Given the description of an element on the screen output the (x, y) to click on. 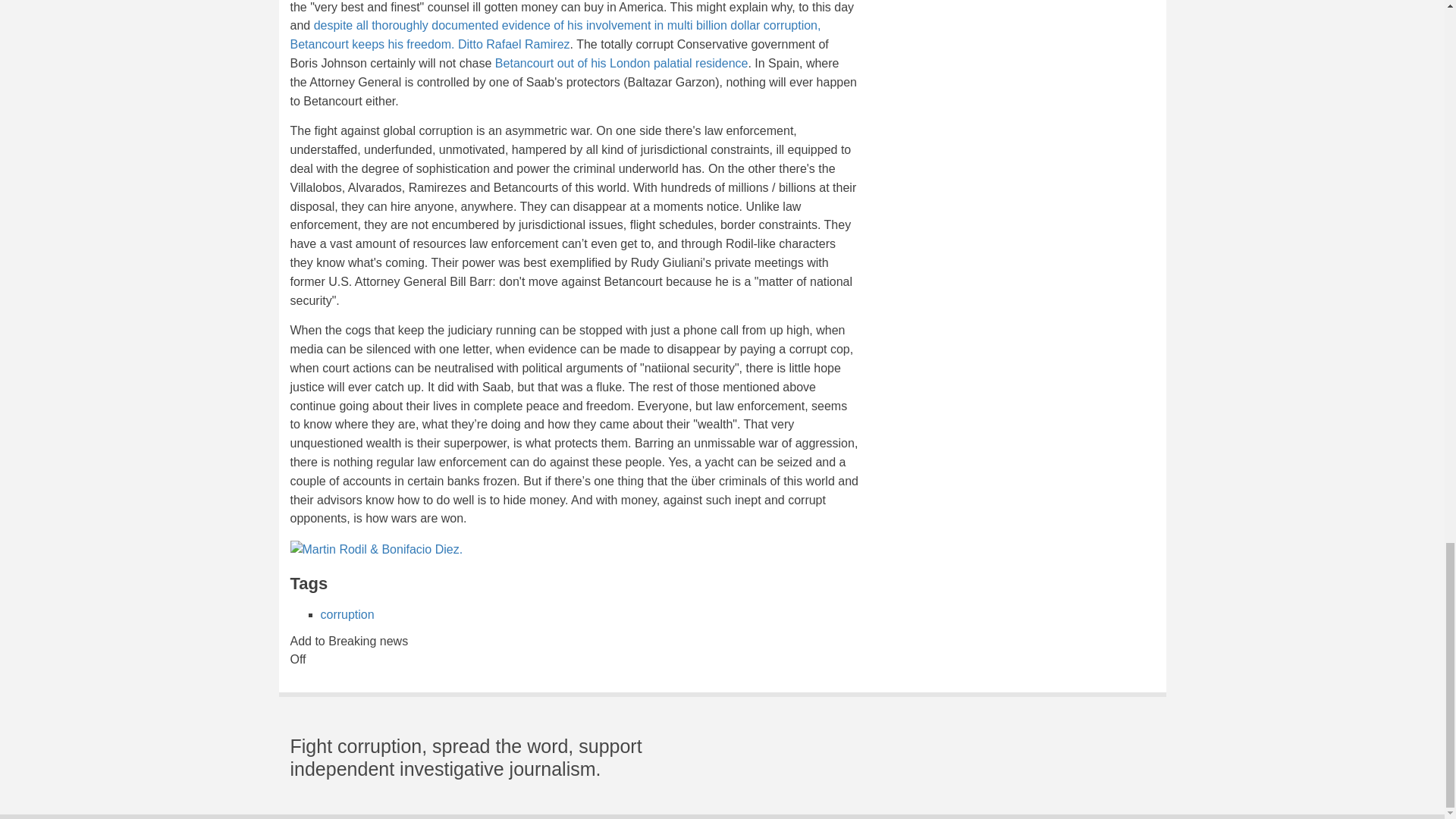
corruption (347, 614)
Betancourt out of his London palatial residence (621, 62)
